Given the description of an element on the screen output the (x, y) to click on. 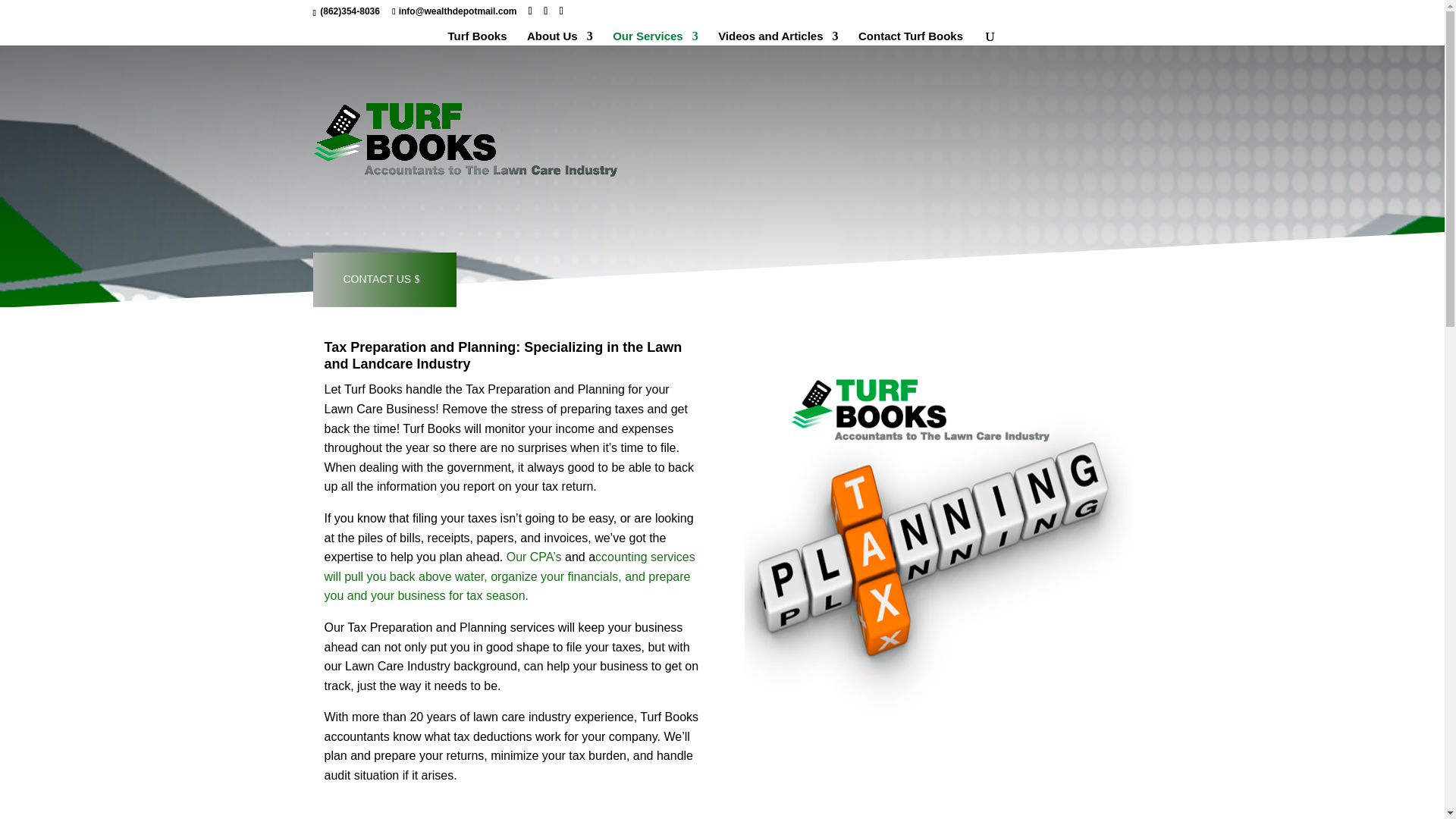
CONTACT US (385, 279)
About Us (559, 38)
Our Services (655, 38)
Contact Turf Books (910, 38)
Videos and Articles (777, 38)
Turf Books (476, 38)
